Given the description of an element on the screen output the (x, y) to click on. 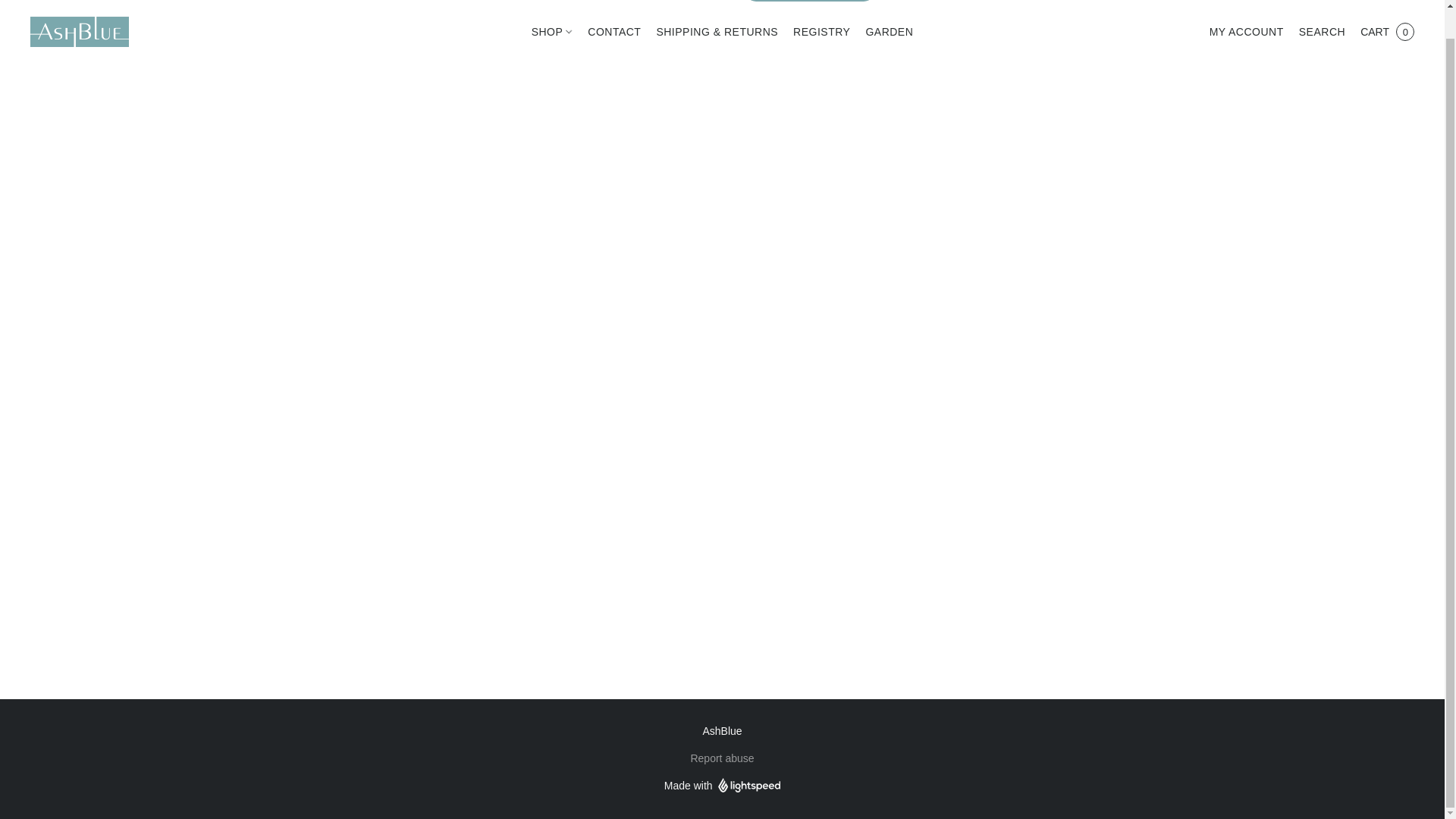
CONTACT (613, 31)
Report abuse (722, 758)
MY ACCOUNT (1246, 31)
SHOP (555, 31)
Made with (721, 785)
Search the website (1321, 31)
Join our mailing list. (809, 0)
GARDEN (884, 31)
SEARCH (1321, 31)
CART (1387, 31)
